Given the description of an element on the screen output the (x, y) to click on. 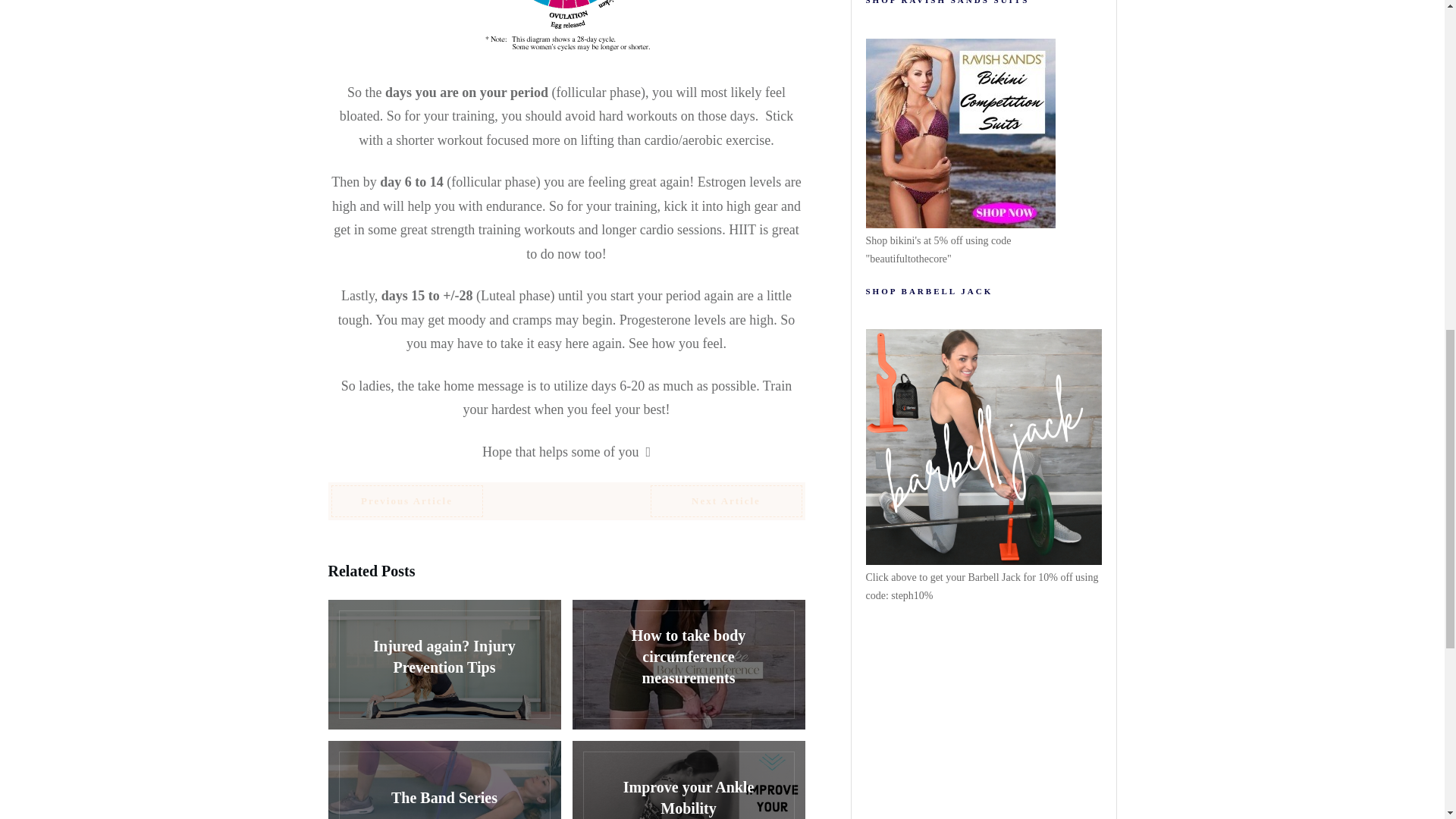
Injured again? Injury Prevention Tips (443, 664)
How to take body circumference measurements (688, 664)
Next Article (726, 500)
Improve your Ankle Mobility (688, 780)
Previous Article (405, 500)
The Band Series (443, 780)
